Given the description of an element on the screen output the (x, y) to click on. 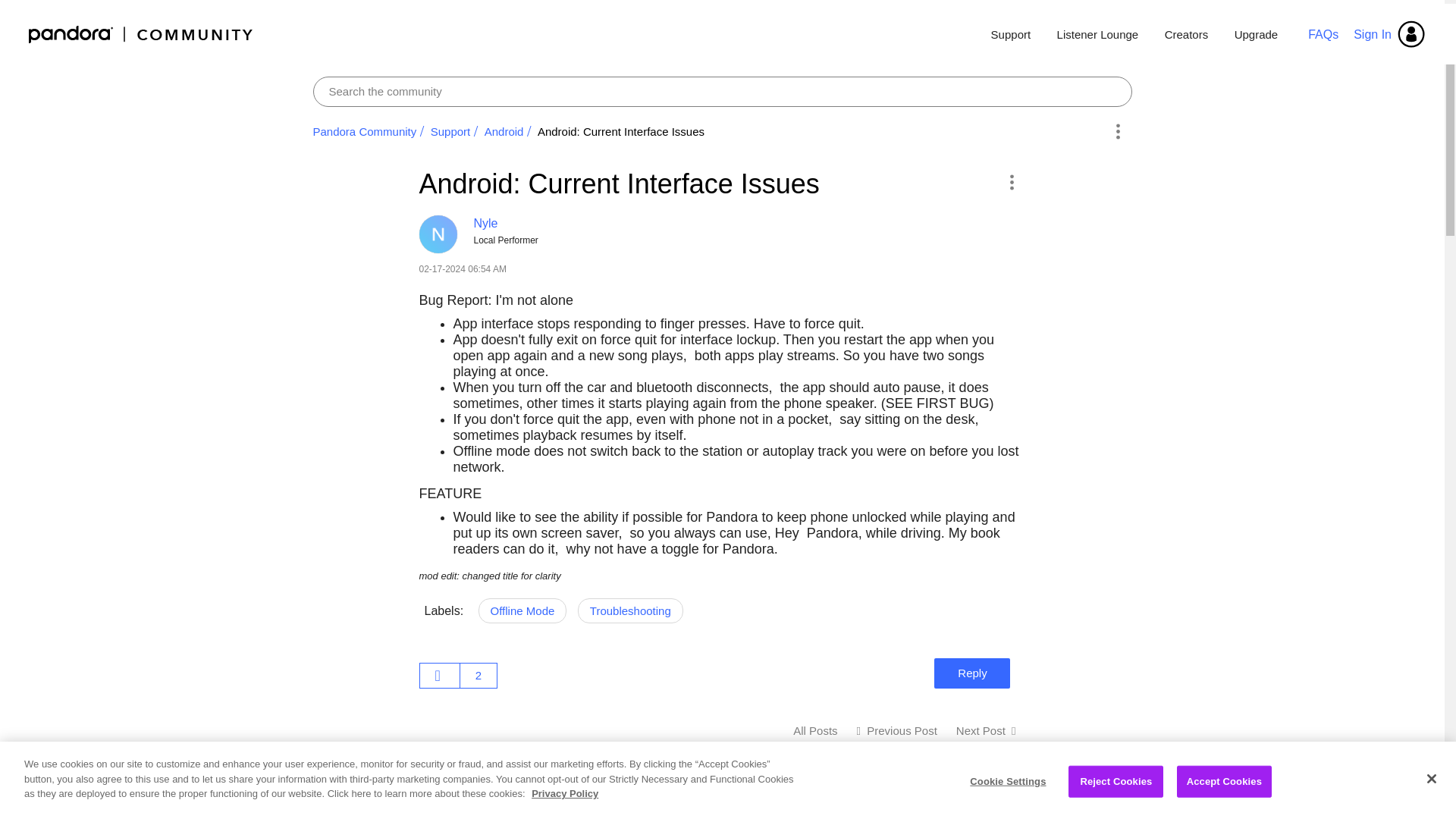
Search (722, 91)
Android (815, 730)
Support (450, 131)
Nyle (485, 223)
Android (504, 131)
Nyle (438, 234)
Android: App keeps randomly turning itself to Shuffle (986, 730)
Android: Pandora starts a new session when WiFi drops (897, 730)
Listener Lounge (1097, 34)
Posted on (634, 269)
Click here to give likes to this post. (440, 675)
Creators (1186, 34)
FAQs (1322, 33)
Click here to see who gave likes to this post. (478, 675)
Options (1117, 131)
